Given the description of an element on the screen output the (x, y) to click on. 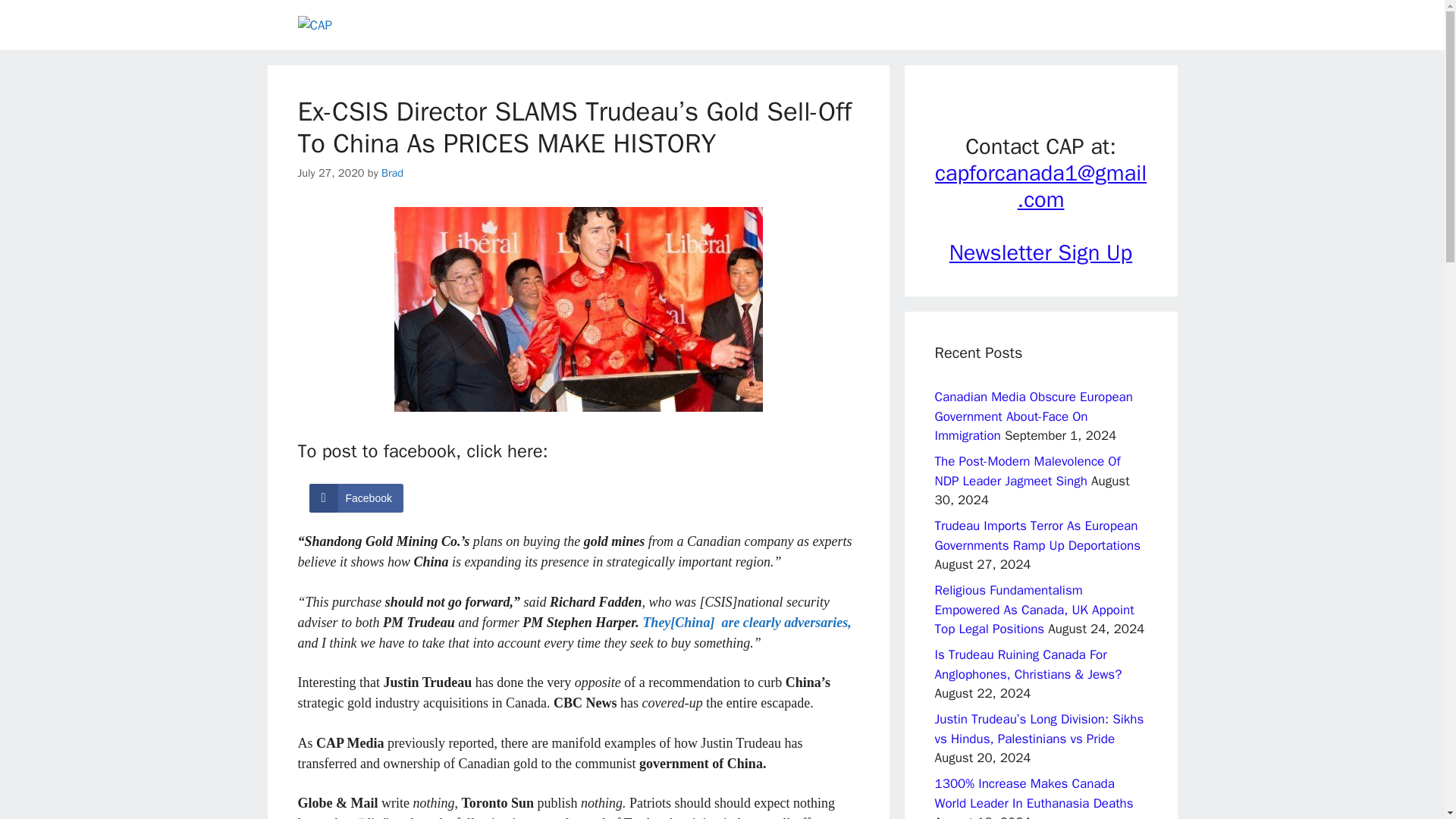
Facebook (355, 498)
The Post-Modern Malevolence Of NDP Leader Jagmeet Singh (1026, 470)
View all posts by Brad (392, 172)
Newsletter Sign Up (1040, 252)
Brad (392, 172)
